Given the description of an element on the screen output the (x, y) to click on. 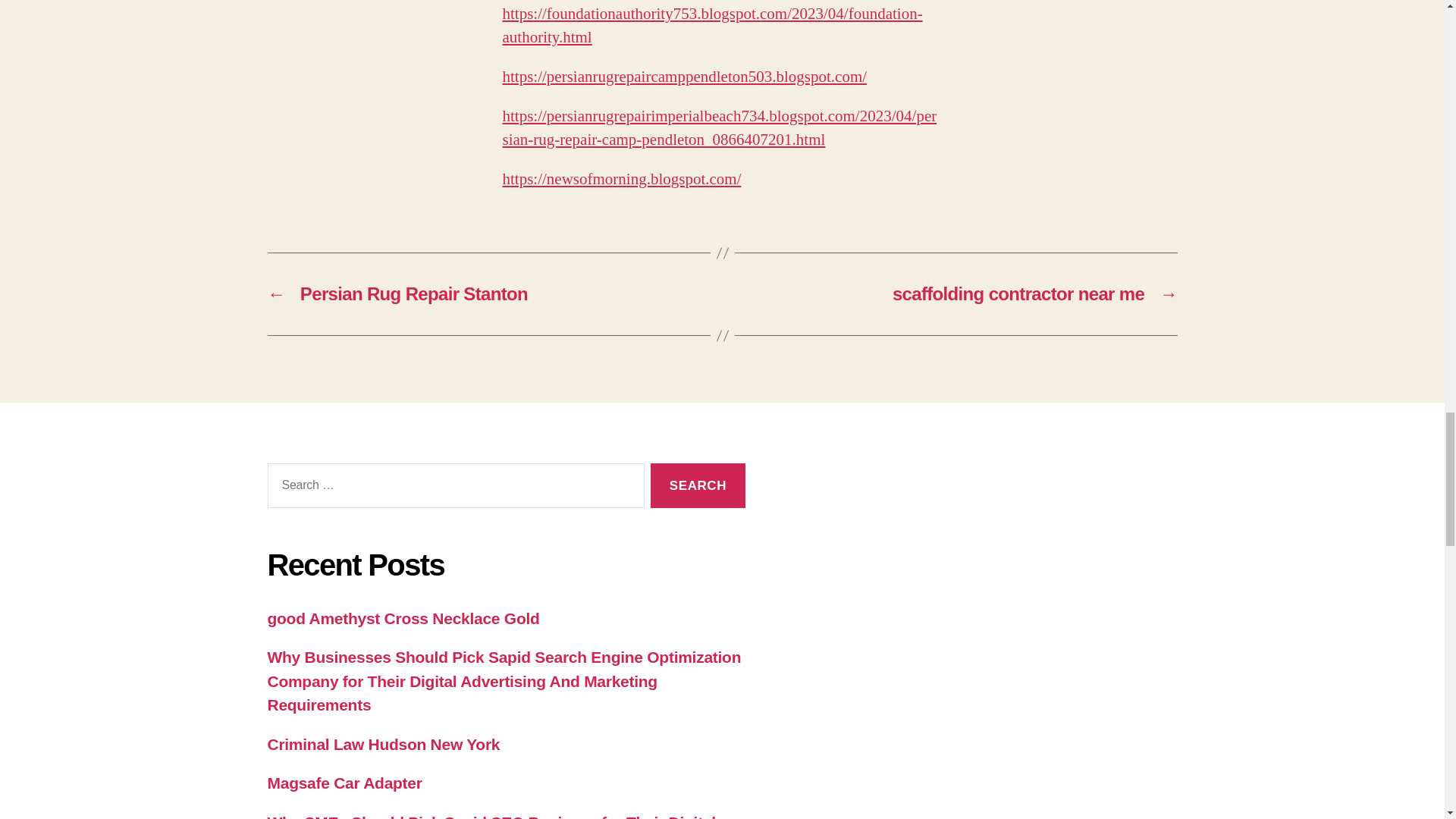
Magsafe Car Adapter (344, 782)
Criminal Law Hudson New York (382, 743)
Search (697, 485)
good Amethyst Cross Necklace Gold (402, 618)
Search (697, 485)
Search (697, 485)
